Given the description of an element on the screen output the (x, y) to click on. 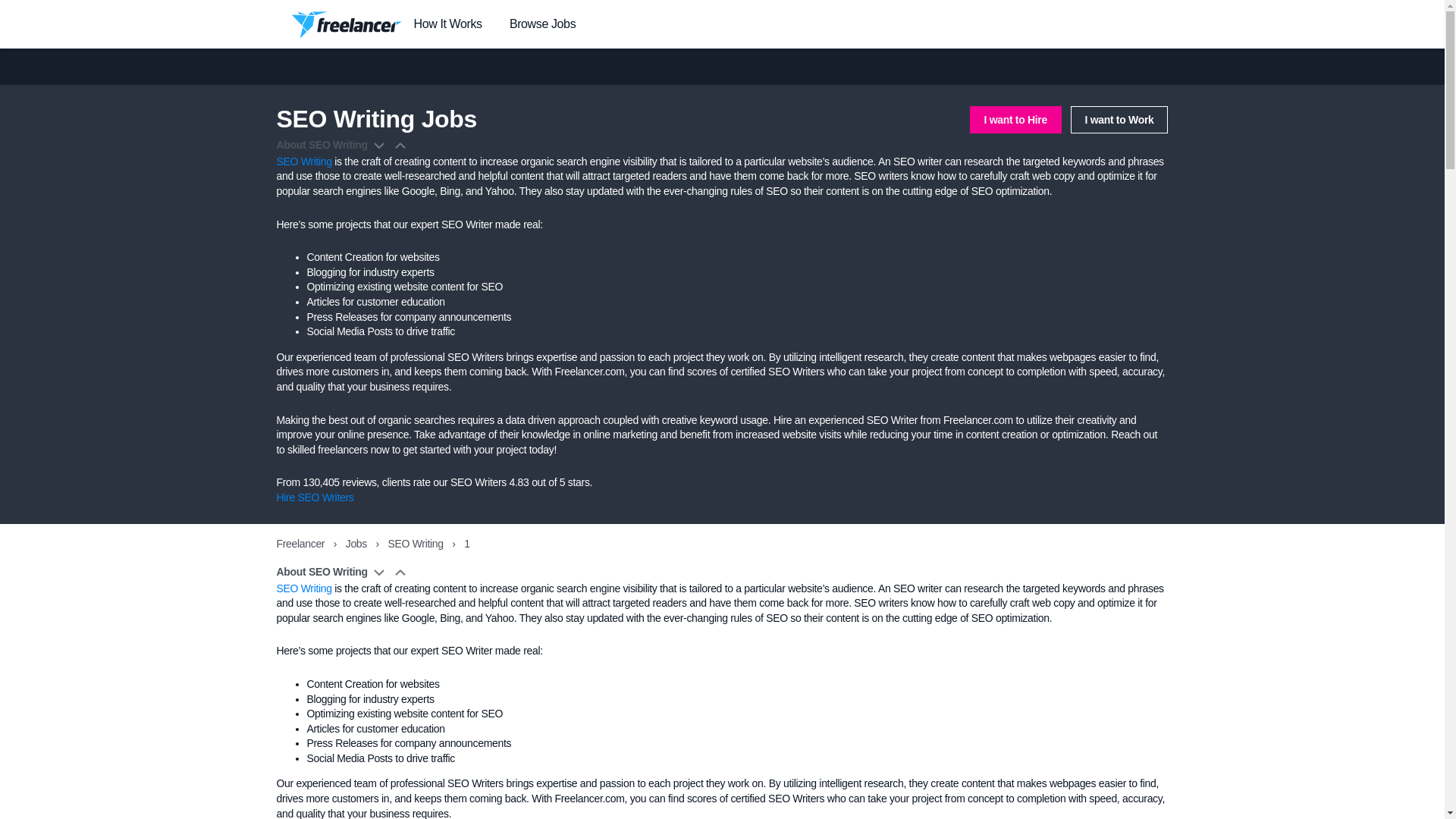
SEO Writing (417, 543)
How It Works (447, 24)
I want to Hire (1015, 119)
Jobs (357, 543)
SEO Writing (303, 588)
About SEO Writing (342, 145)
SEO Writing (303, 161)
About SEO Writing (342, 572)
Hire SEO Writers (314, 497)
Browse Jobs (542, 24)
I want to Work (1119, 119)
Freelancer (301, 543)
